Given the description of an element on the screen output the (x, y) to click on. 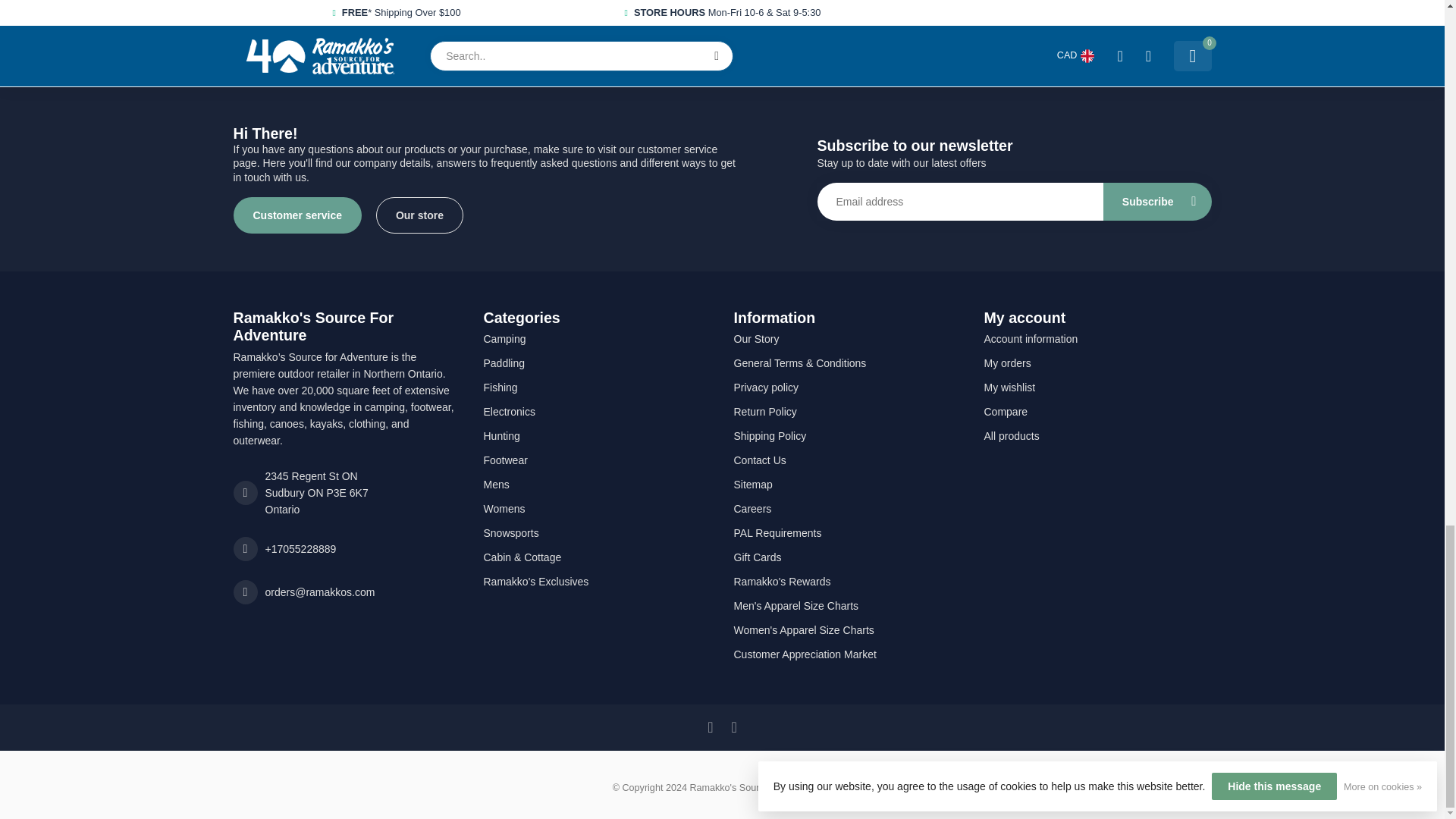
Ramakko's Rewards  (846, 581)
Contact Us (846, 459)
Privacy policy (846, 387)
Customer Appreciation Market  (846, 654)
Women's Apparel Size Charts  (846, 630)
Gift Cards (846, 557)
Our Story (846, 338)
Return Policy (846, 411)
Careers (846, 508)
PAL Requirements (846, 532)
Shipping  Policy (846, 435)
Men's Apparel Size Charts  (846, 605)
Sitemap (846, 484)
